Given the description of an element on the screen output the (x, y) to click on. 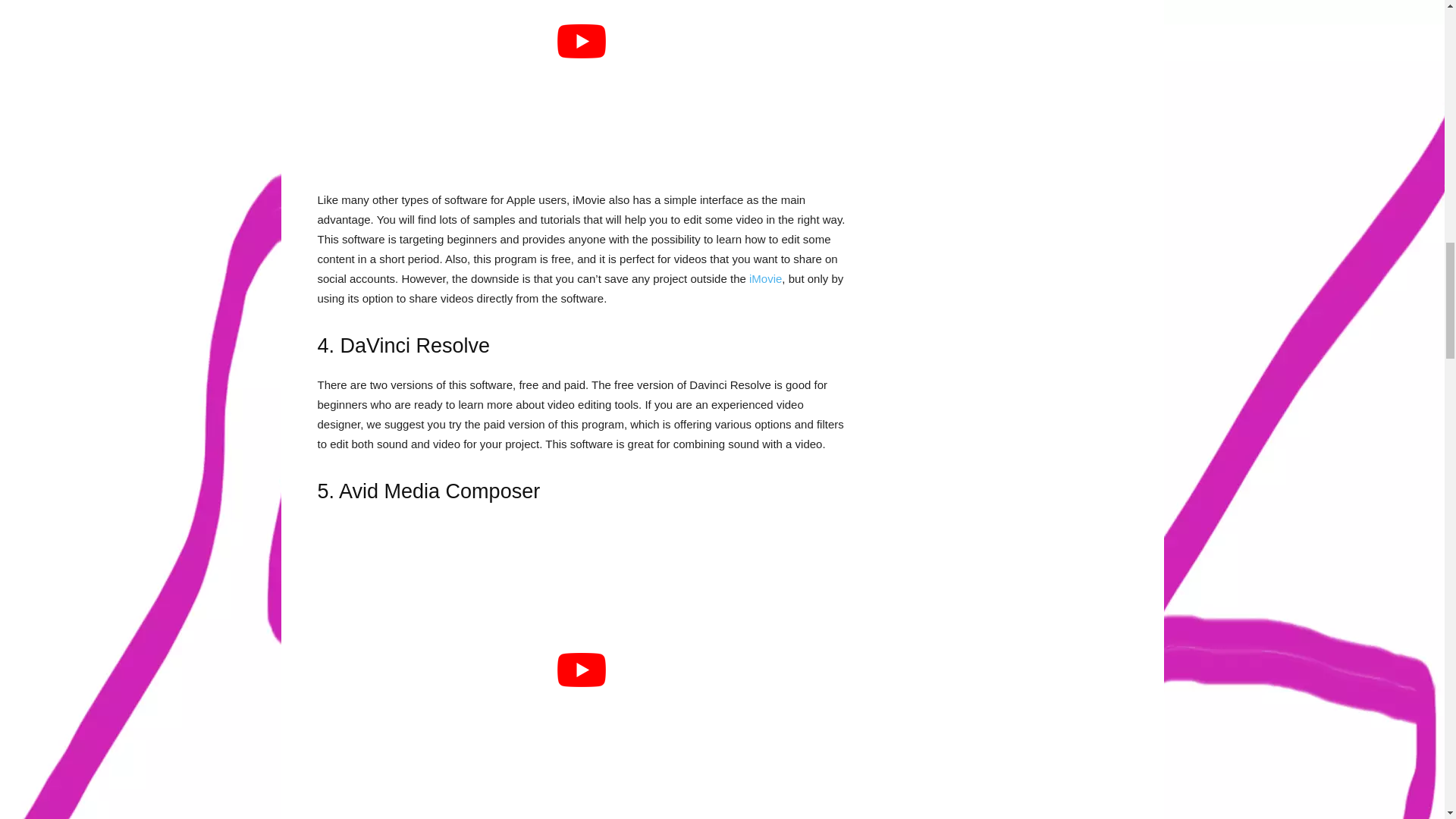
iMovie (765, 278)
